Given the description of an element on the screen output the (x, y) to click on. 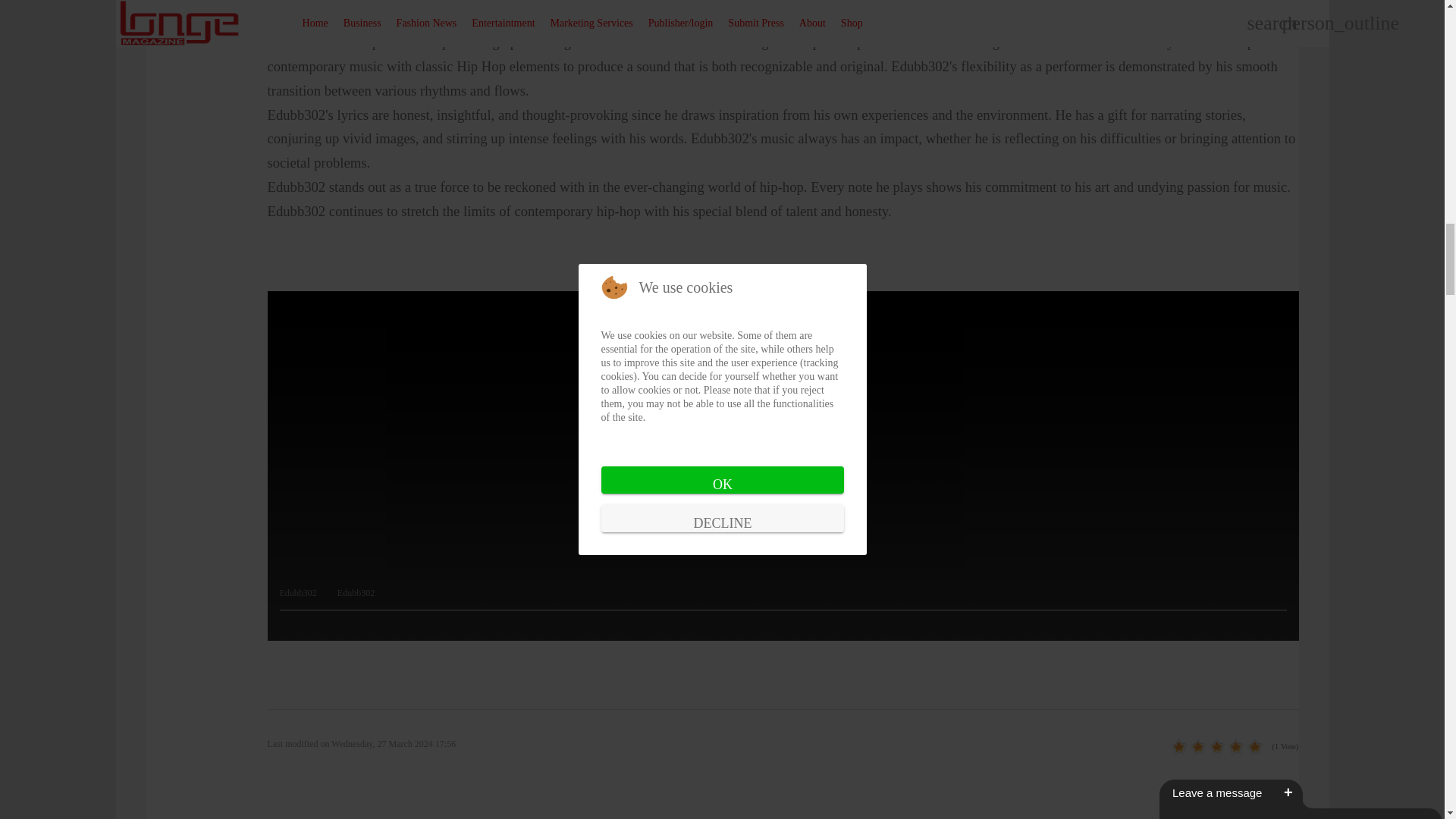
5 stars out of 5 (1216, 747)
4 stars out of 5 (1206, 747)
2 stars out of 5 (1188, 747)
1 star out of 5 (1178, 747)
3 stars out of 5 (1197, 747)
